Given the description of an element on the screen output the (x, y) to click on. 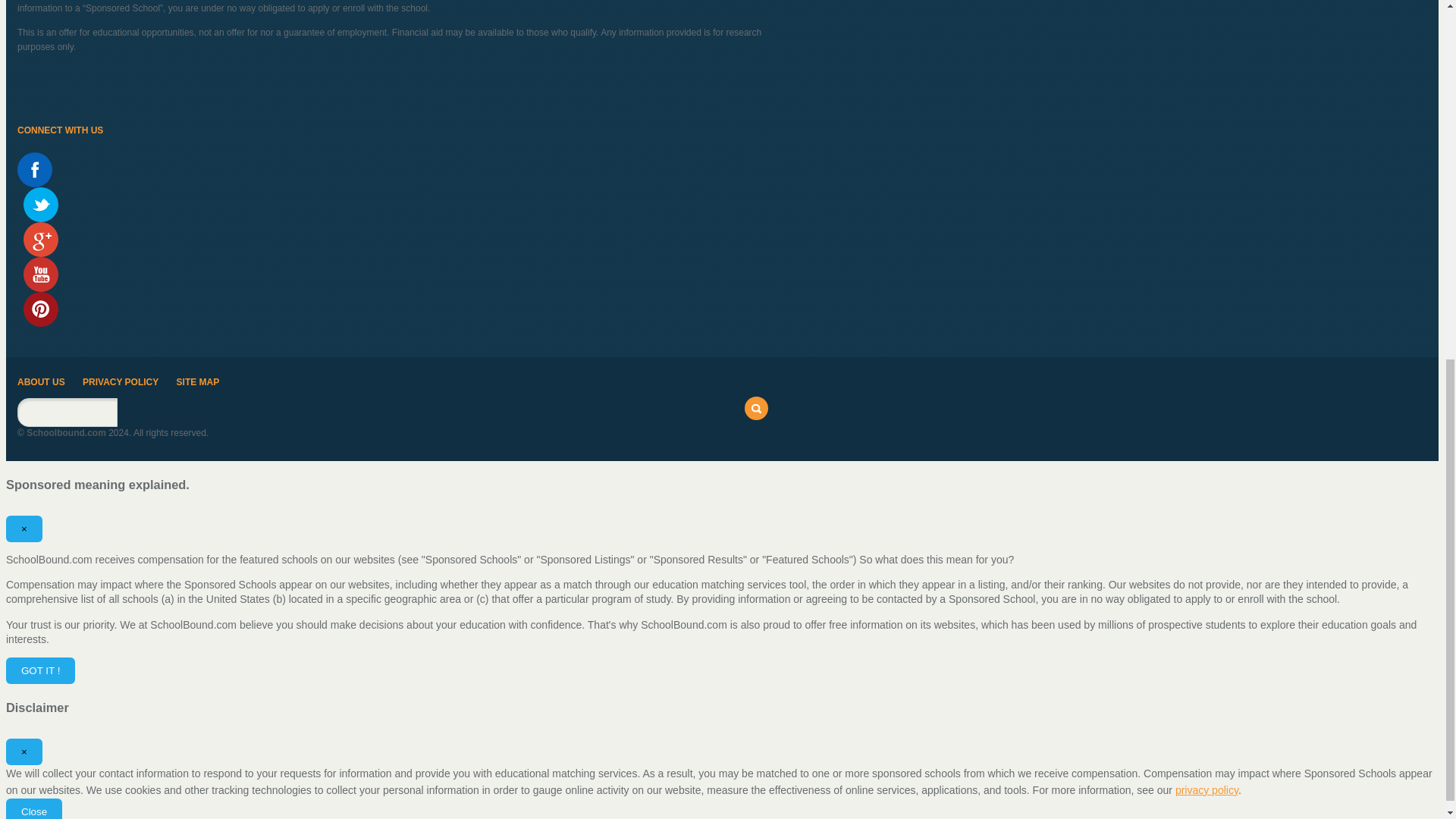
Facebook (34, 169)
Pinterest (40, 308)
Search (756, 408)
SITE MAP (197, 381)
PRIVACY POLICY (120, 381)
Twitter (40, 204)
Search (756, 408)
ABOUT US (41, 381)
privacy policy (1206, 789)
GOT IT ! (40, 670)
YouTube (40, 274)
